Given the description of an element on the screen output the (x, y) to click on. 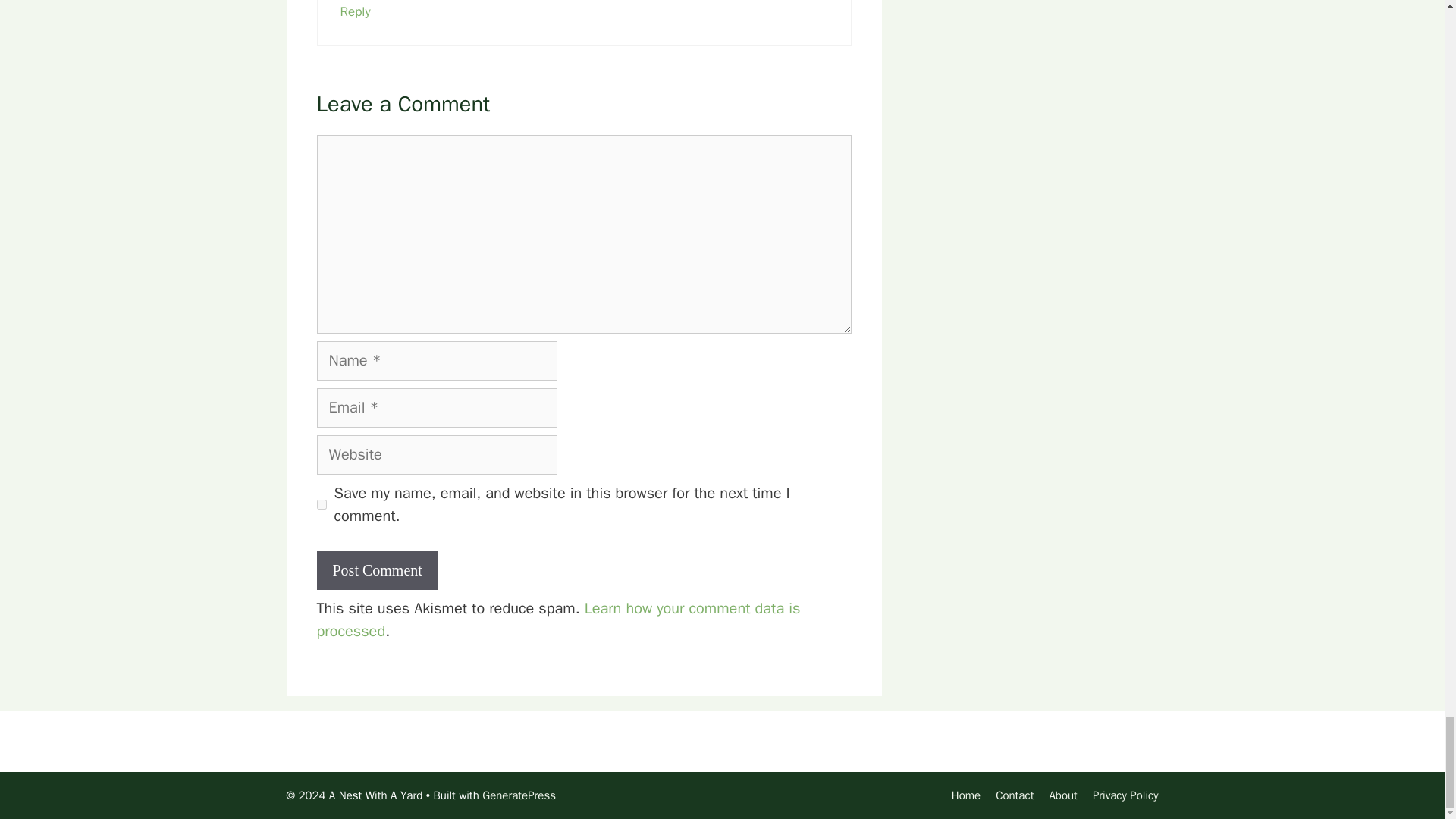
yes (321, 504)
Post Comment (377, 569)
